Given the description of an element on the screen output the (x, y) to click on. 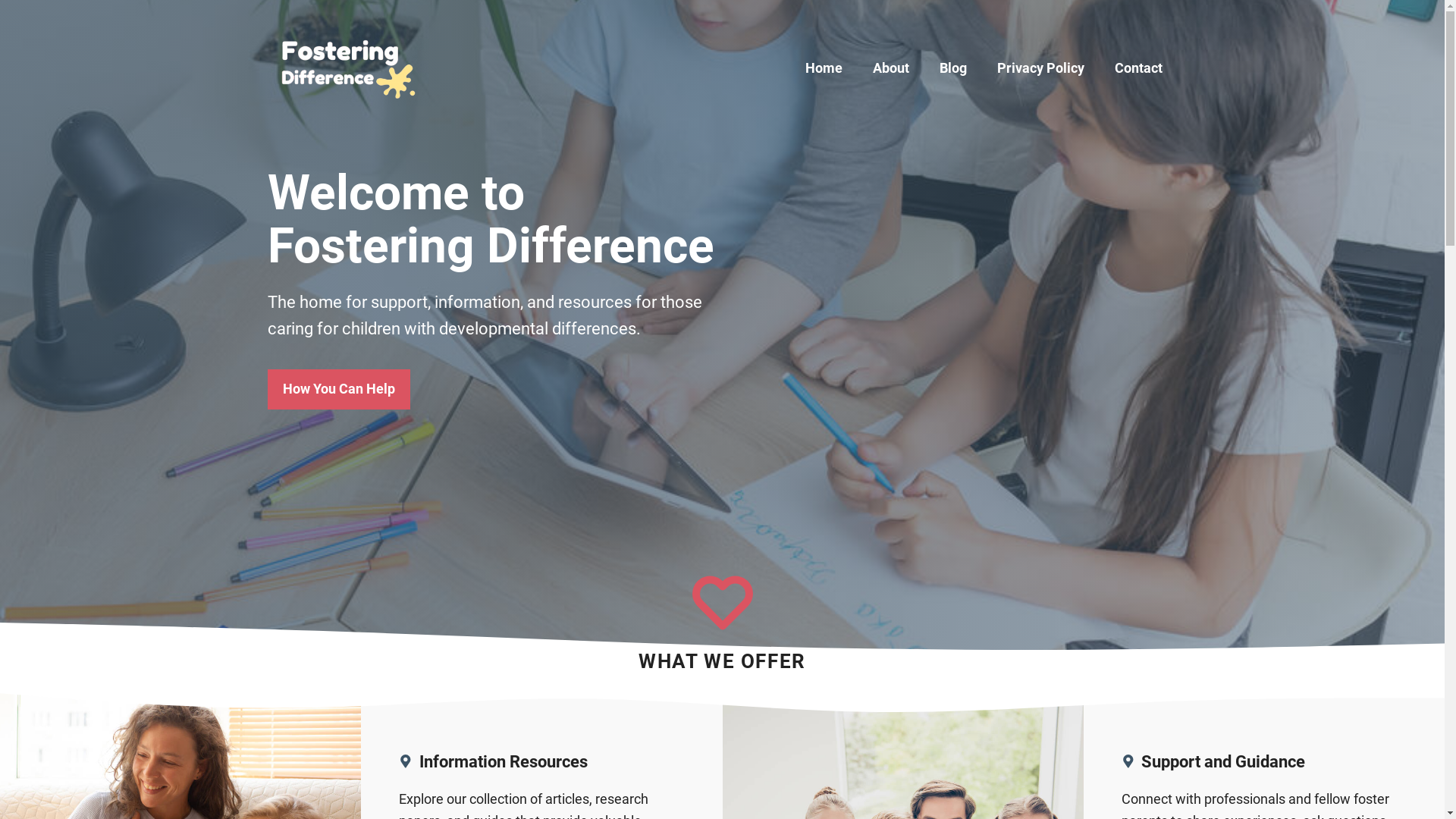
Privacy Policy Element type: text (1039, 68)
Blog Element type: text (952, 68)
Home Element type: text (823, 68)
About Element type: text (889, 68)
Contact Element type: text (1138, 68)
How You Can Help Element type: text (337, 389)
